Given the description of an element on the screen output the (x, y) to click on. 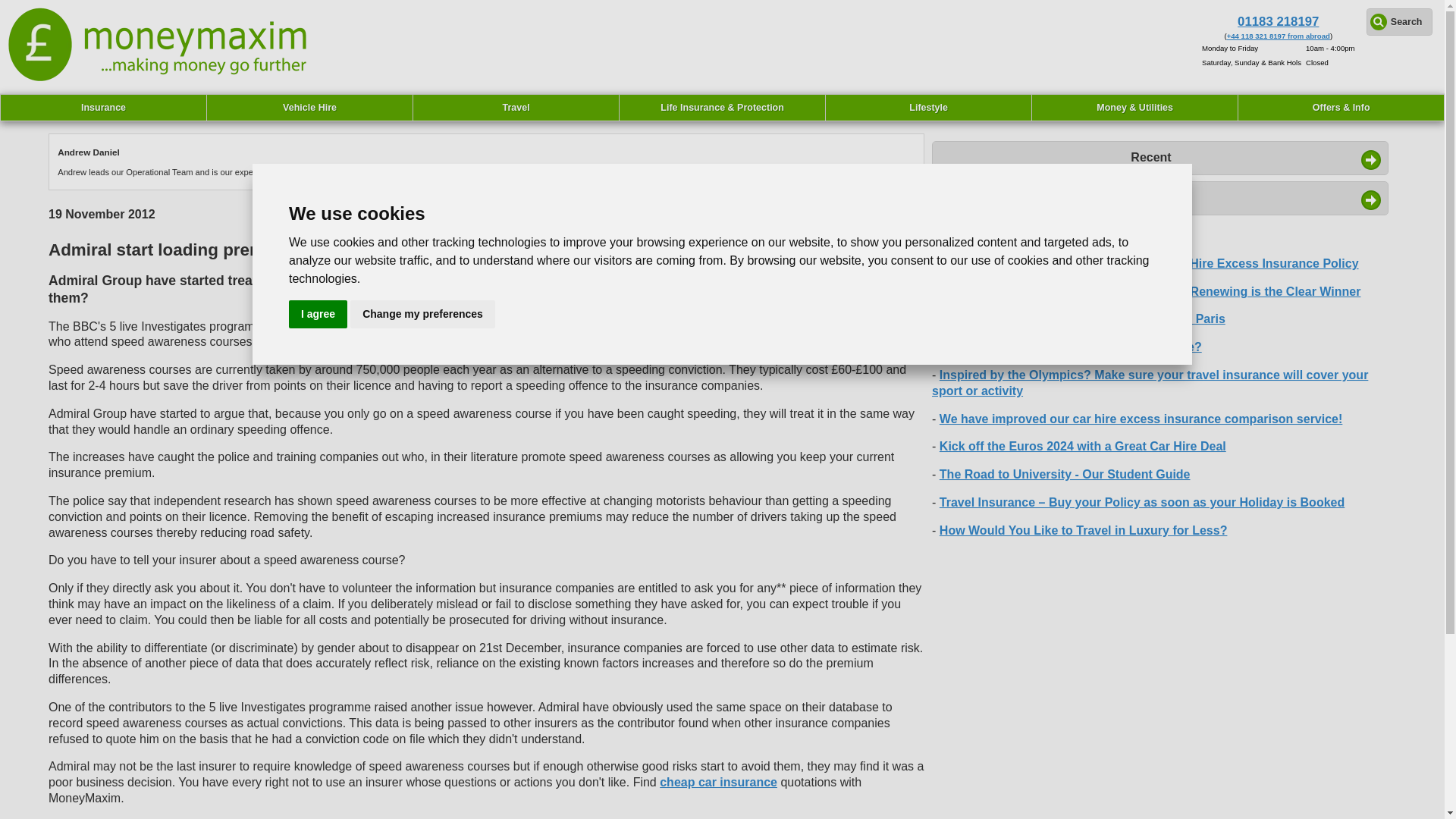
Change my preferences (422, 314)
I agree (317, 314)
